Given the description of an element on the screen output the (x, y) to click on. 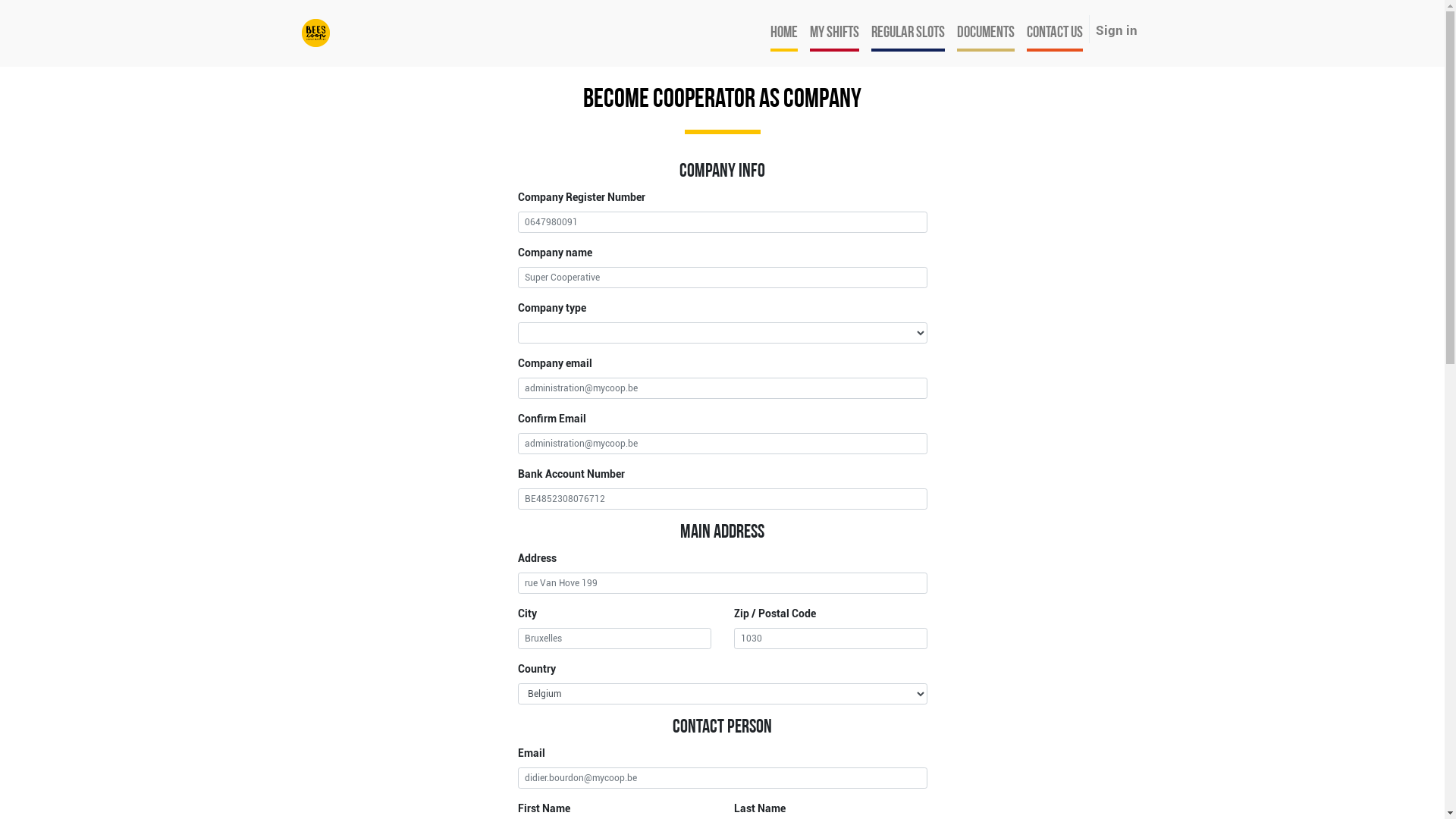
Sign in Element type: text (1115, 30)
Home Element type: text (783, 33)
Regular slots Element type: text (907, 33)
Contact us Element type: text (1054, 33)
BEES coop SCRLfs Element type: hover (315, 34)
Documents Element type: text (985, 33)
My shifts Element type: text (834, 33)
